Given the description of an element on the screen output the (x, y) to click on. 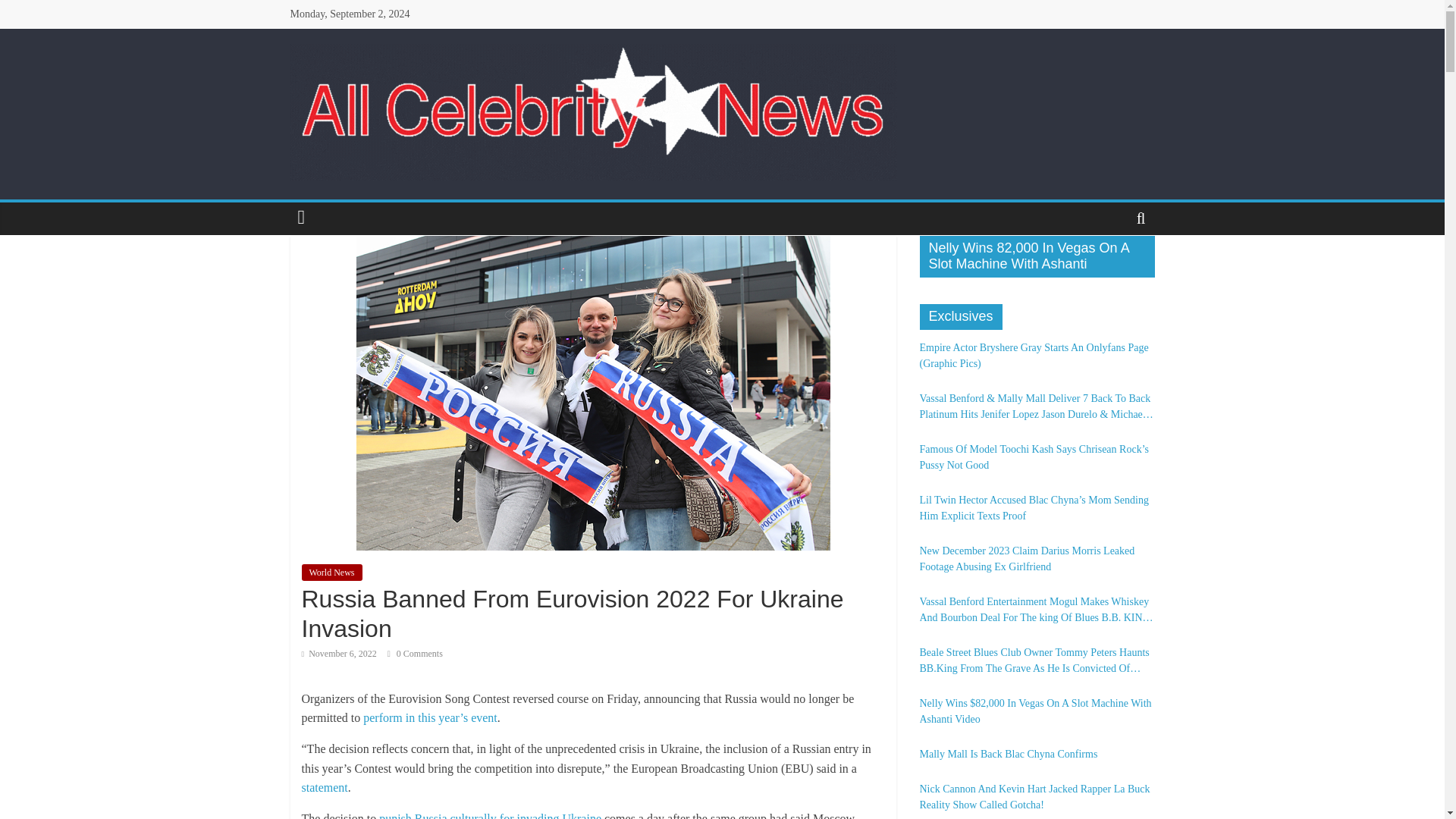
November 6, 2022 (339, 653)
for invading Ukraine (550, 815)
punish Russia (412, 815)
culturally (472, 815)
0 Comments (414, 653)
1:23 am (339, 653)
Mally Mall Is Back Blac Chyna Confirms (1036, 754)
World News (331, 572)
